Given the description of an element on the screen output the (x, y) to click on. 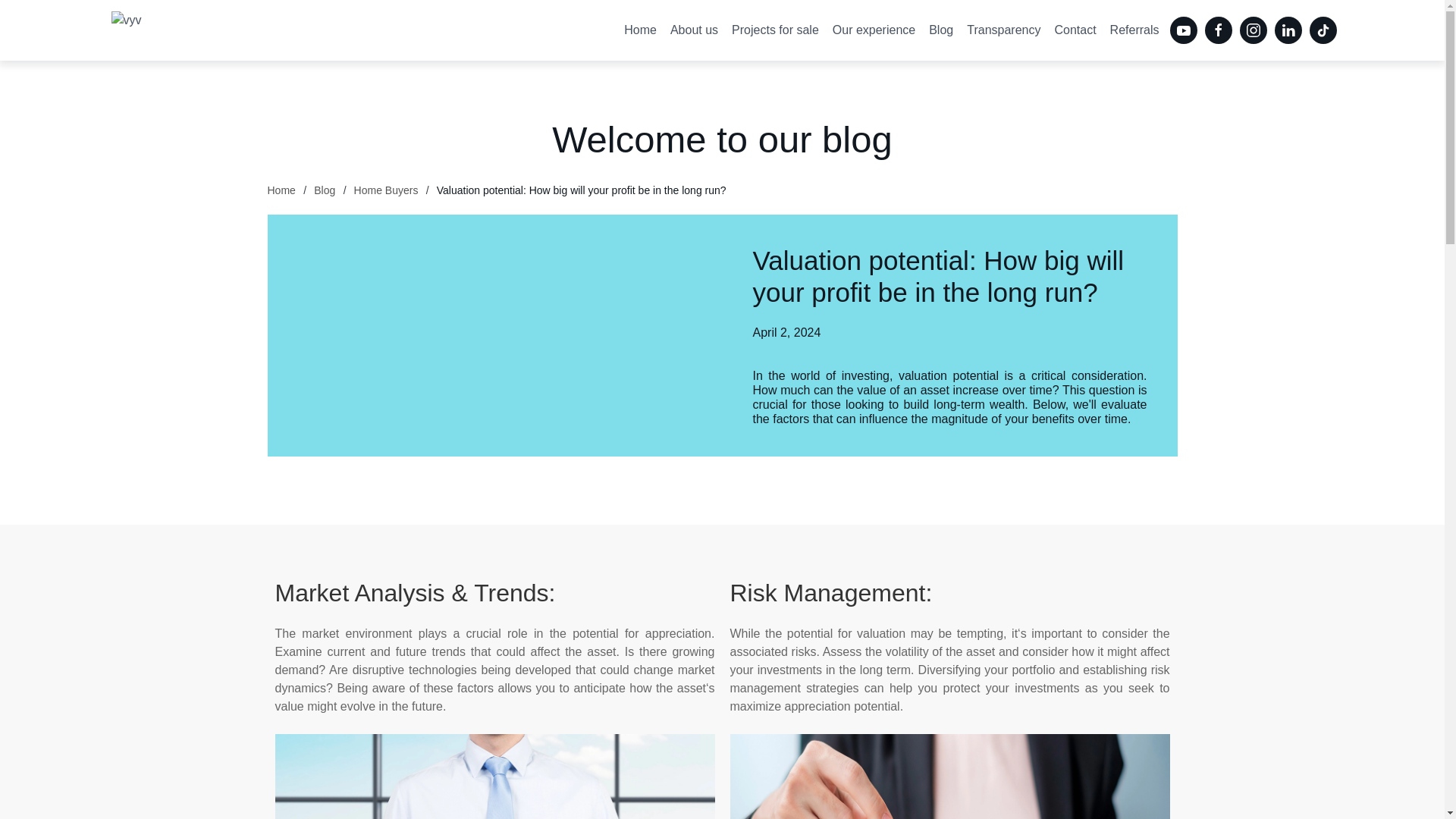
Contact (1074, 30)
Transparency (1002, 30)
Projects for sale (775, 30)
Our experience (873, 30)
Blog (324, 190)
About us (694, 30)
Referrals (1134, 30)
Home Buyers (386, 190)
Home (280, 190)
